Given the description of an element on the screen output the (x, y) to click on. 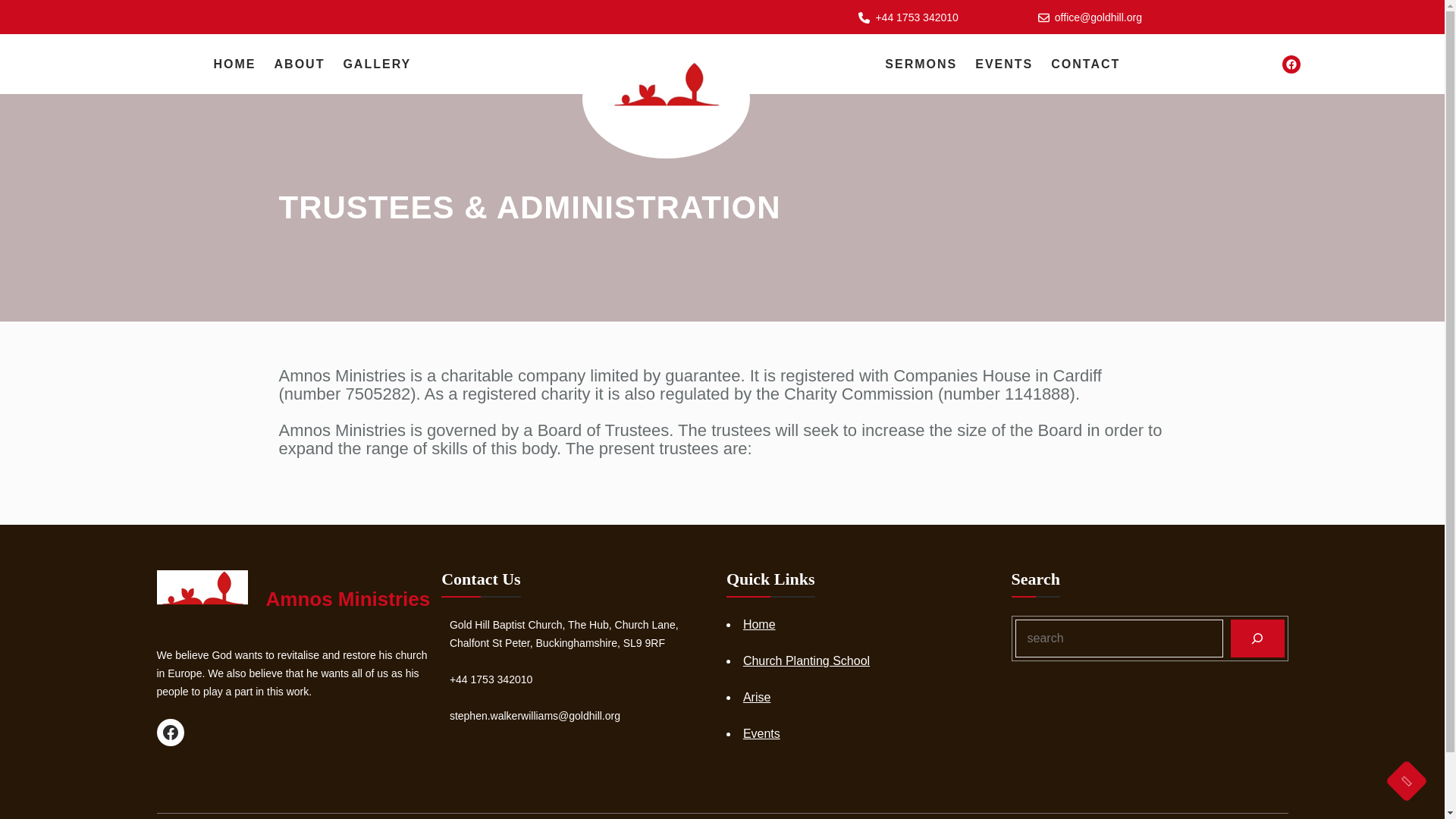
HOME (235, 64)
Amnos Ministries (346, 599)
Events (761, 733)
EVENTS (1003, 64)
SERMONS (920, 64)
GALLERY (376, 64)
Home (759, 624)
CONTACT (1085, 64)
ABOUT (299, 64)
Facebook (169, 732)
